Given the description of an element on the screen output the (x, y) to click on. 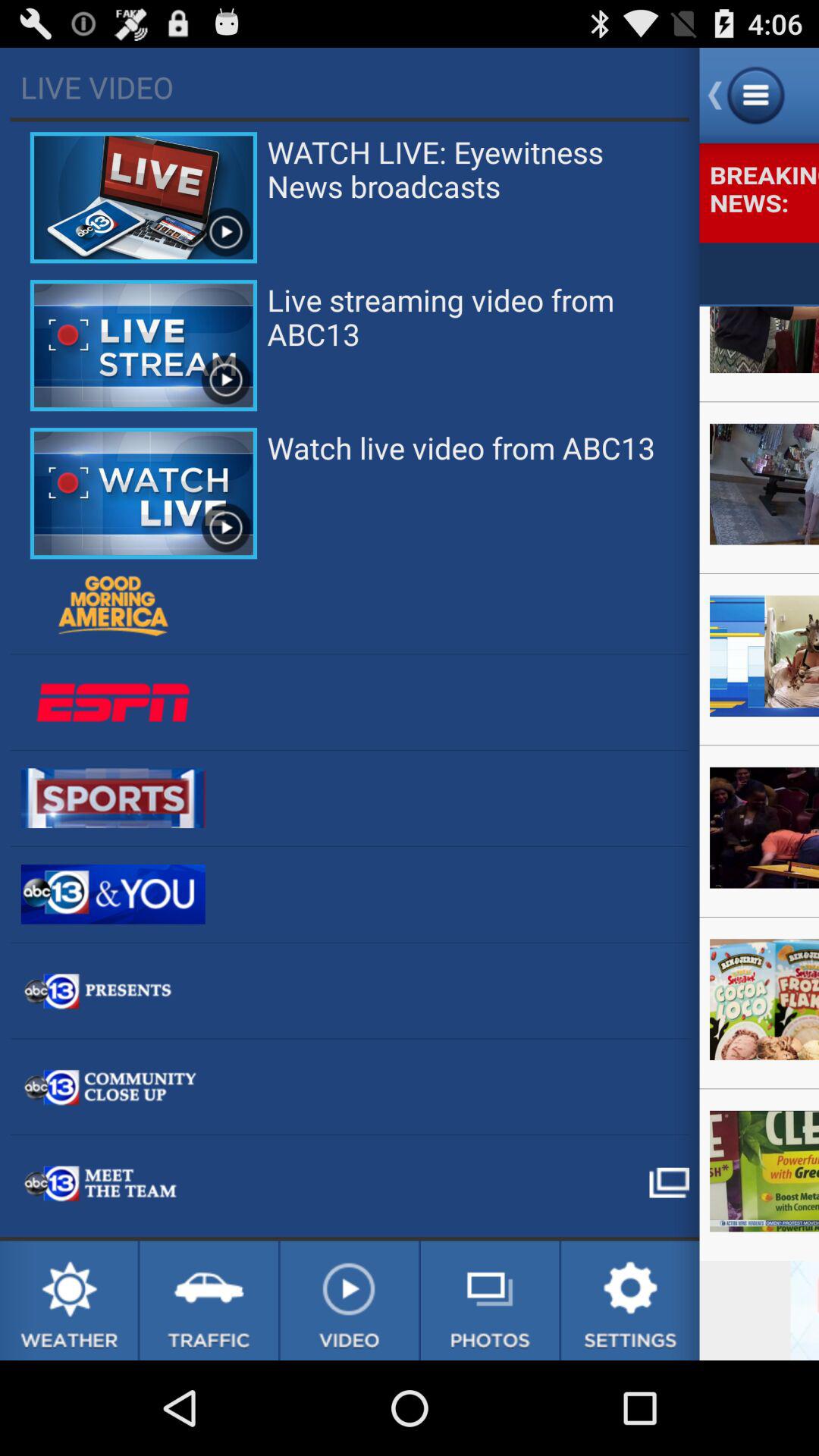
play video (349, 1300)
